Given the description of an element on the screen output the (x, y) to click on. 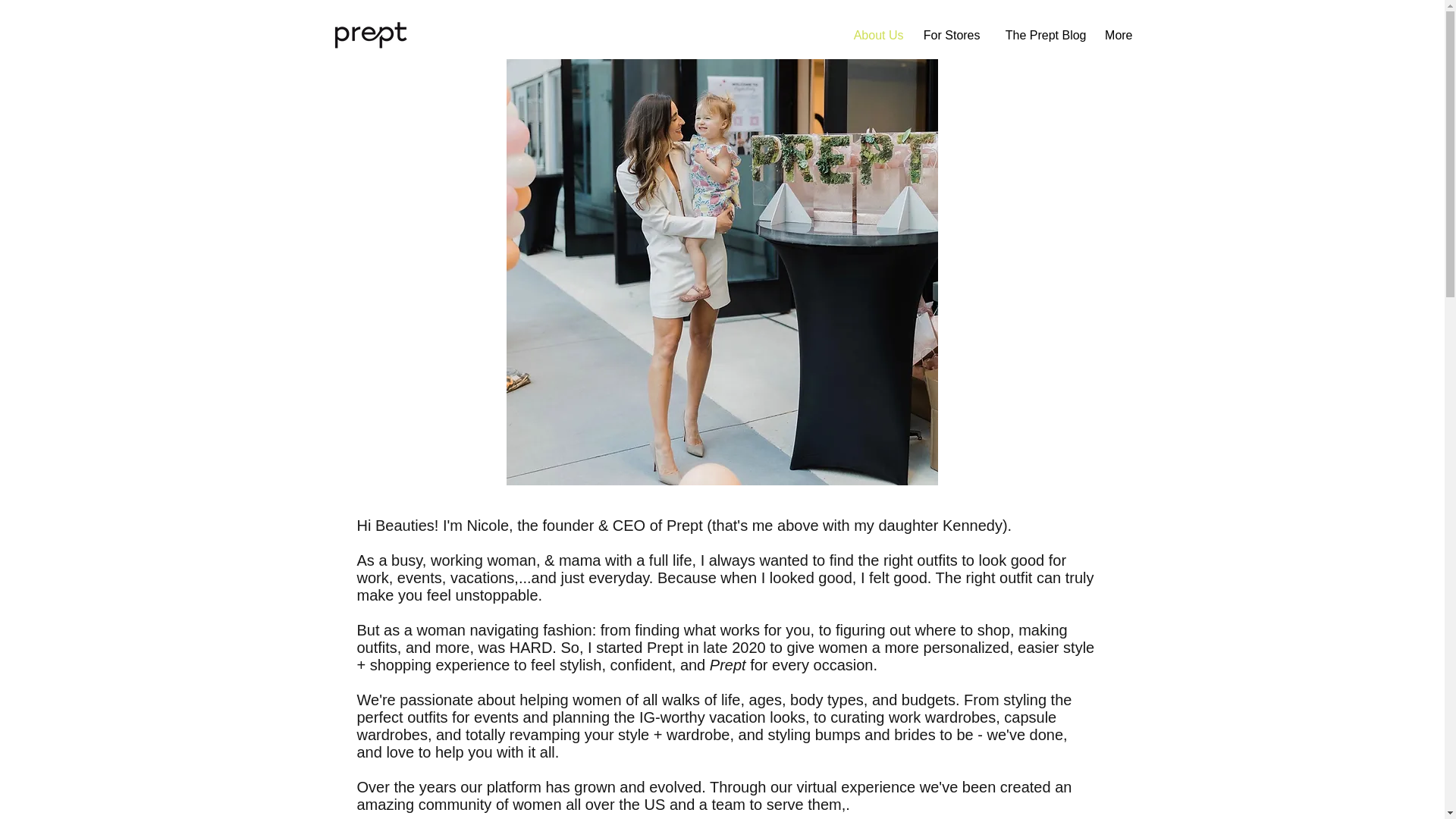
The Prept Blog (1040, 35)
For Stores (949, 35)
About Us (874, 35)
